Given the description of an element on the screen output the (x, y) to click on. 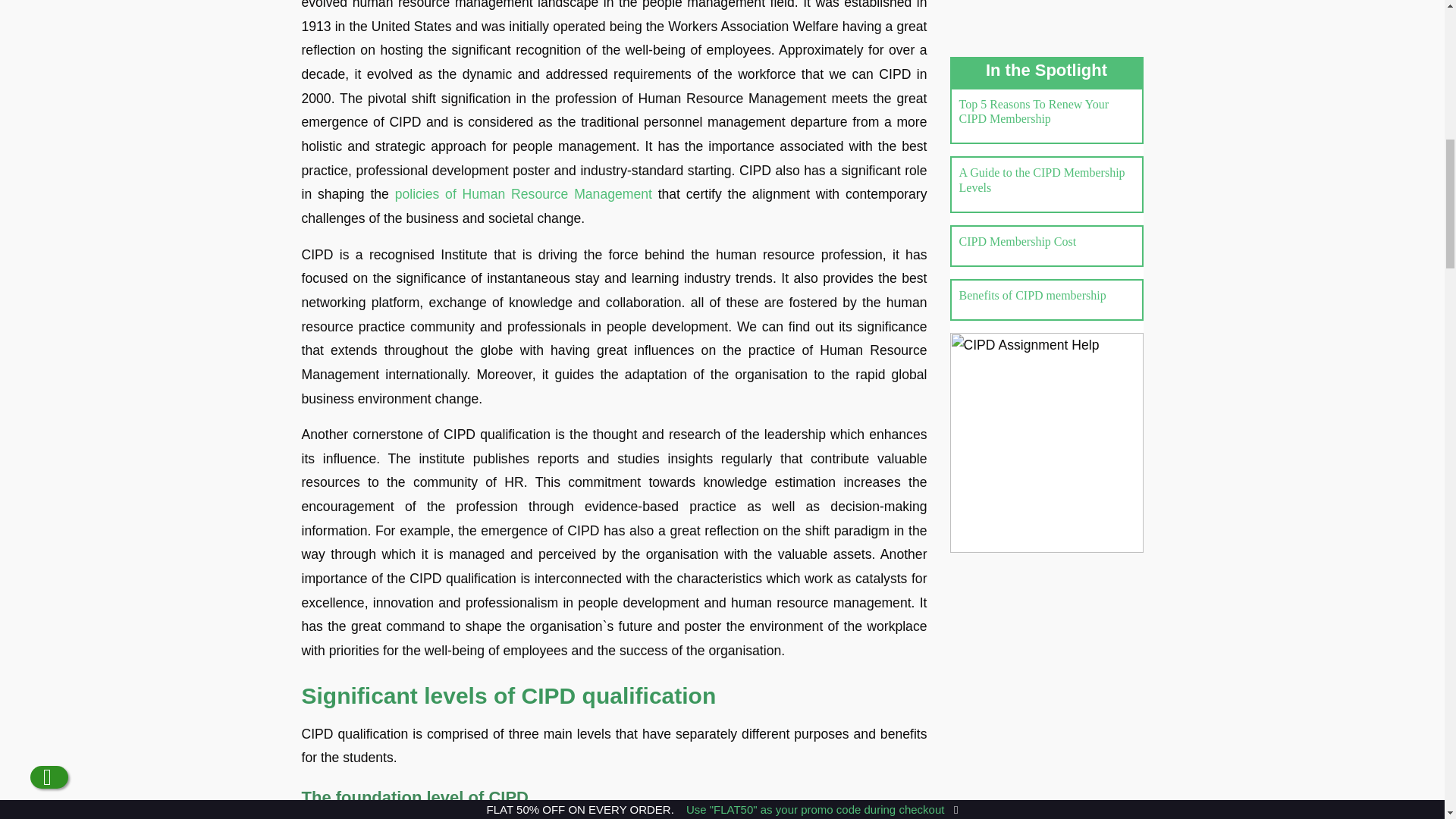
policies of Human Resource Management (523, 193)
